Given the description of an element on the screen output the (x, y) to click on. 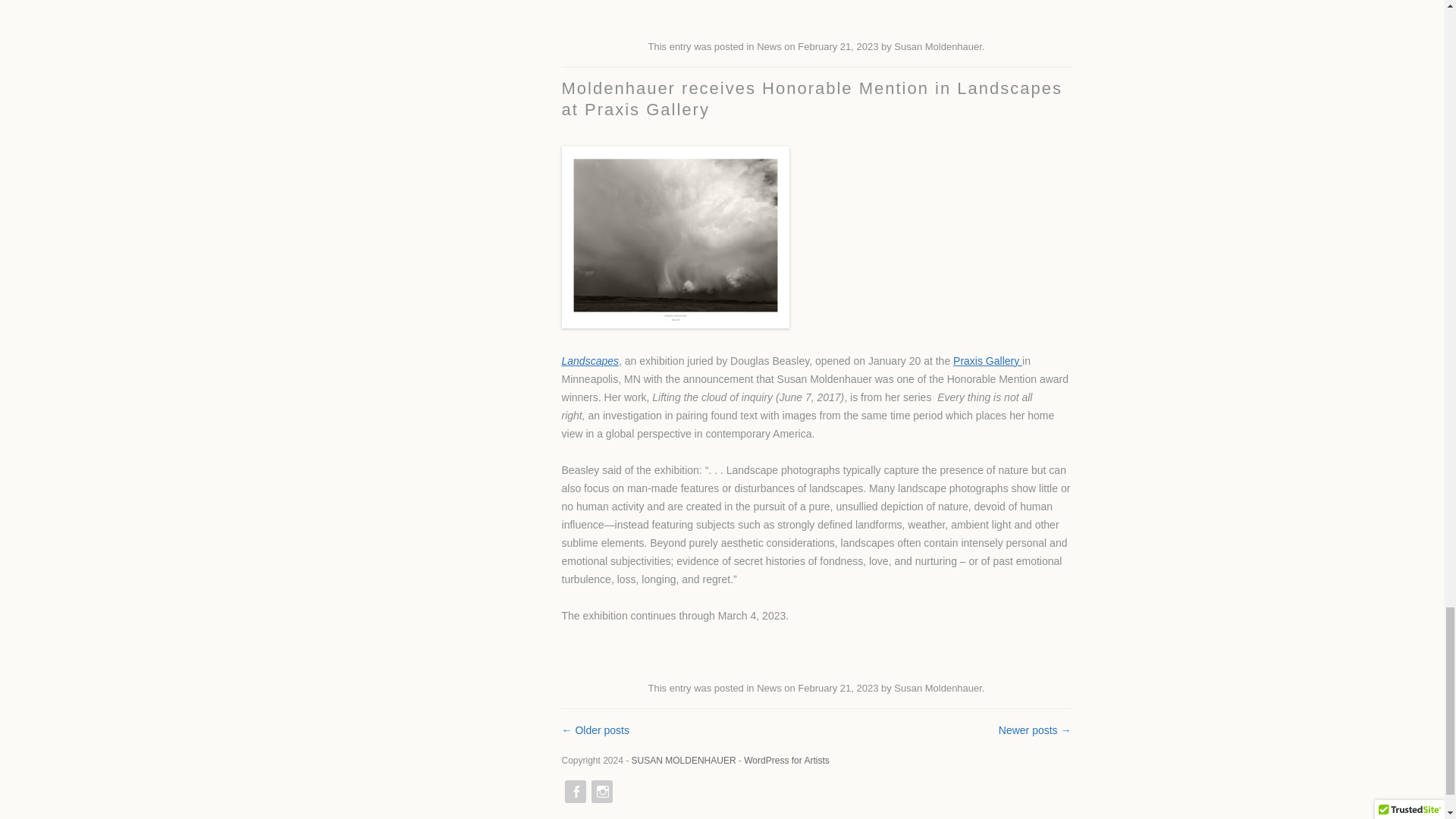
10:02 am (837, 687)
12:37 pm (837, 46)
View all posts by Susan Moldenhauer (937, 46)
WordPress websites and blogs for artists (786, 760)
View all posts by Susan Moldenhauer (937, 687)
SUSAN MOLDENHAUER (683, 760)
